Given the description of an element on the screen output the (x, y) to click on. 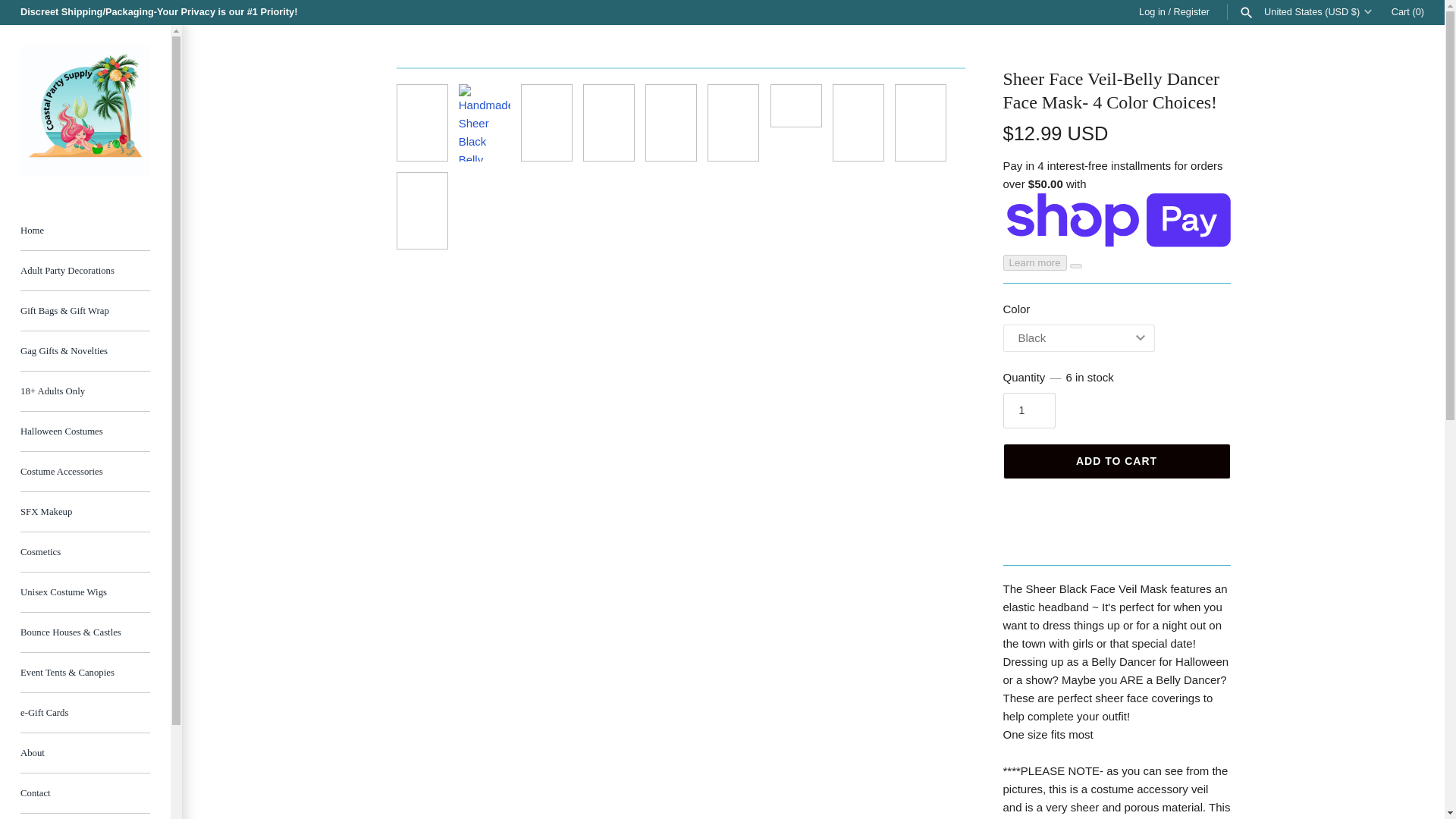
Coastal Party Supply (85, 110)
Adult Party Decorations (84, 270)
Home (84, 230)
Log in (1152, 11)
1 (1028, 410)
Register (1191, 11)
